Given the description of an element on the screen output the (x, y) to click on. 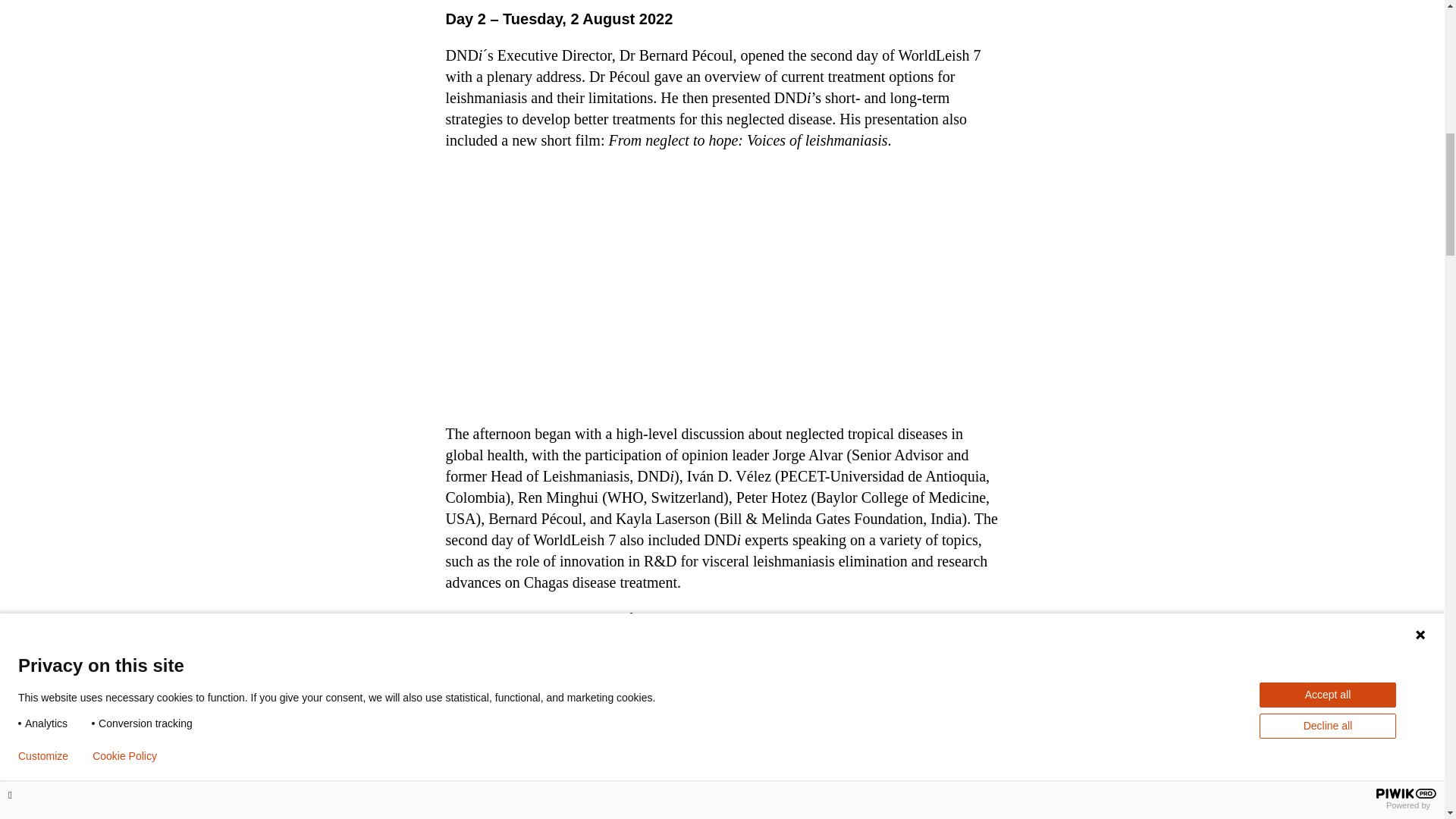
YouTube video player (721, 285)
